Given the description of an element on the screen output the (x, y) to click on. 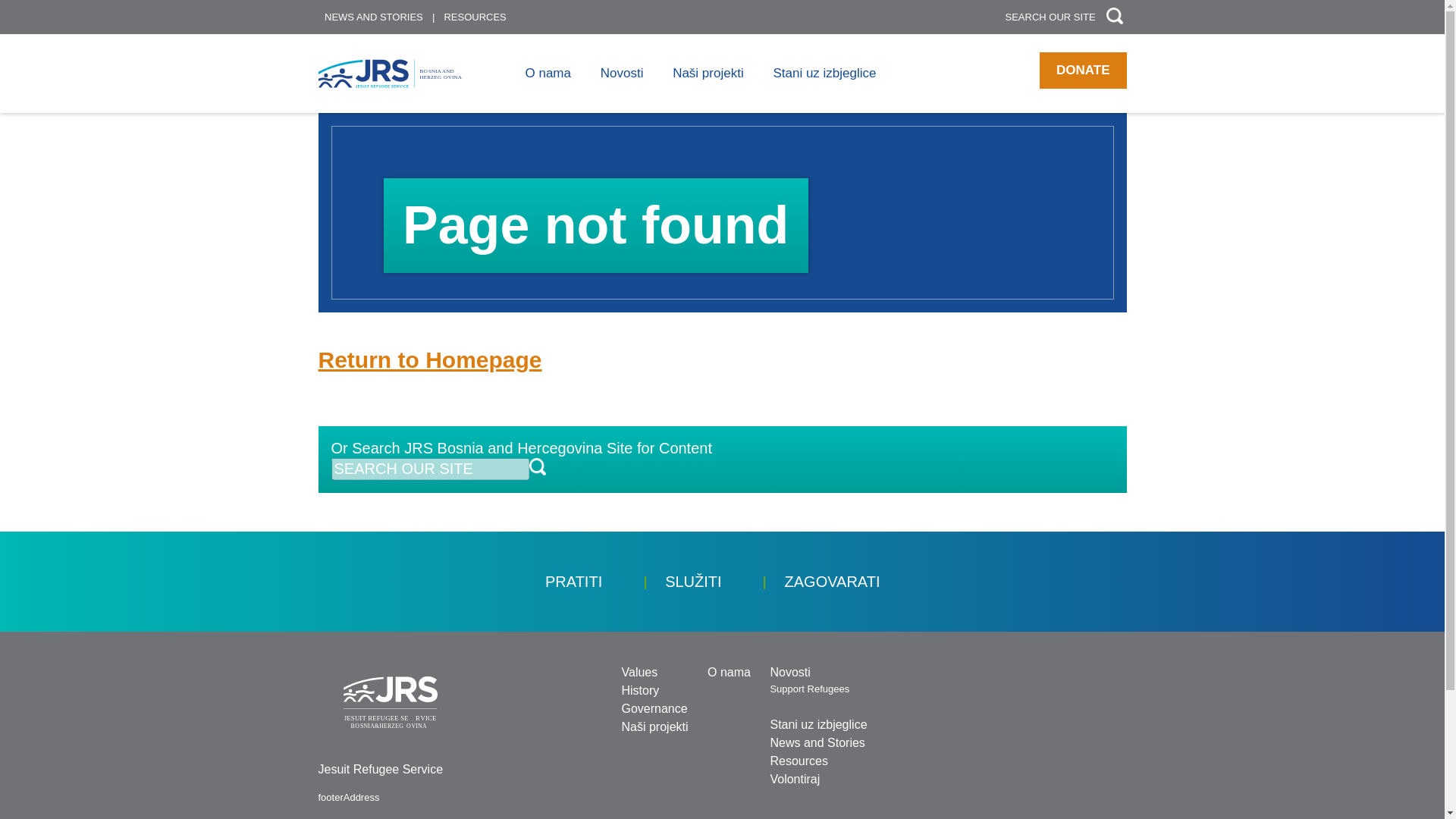
DONATE (1082, 70)
Volontiraj (794, 779)
News and Stories (817, 742)
Skip to main content (639, 4)
RESOURCES (478, 17)
Governance (654, 707)
Return to Homepage (429, 359)
NEWS AND STORIES (376, 17)
O nama (547, 73)
PRATITI (573, 581)
